Given the description of an element on the screen output the (x, y) to click on. 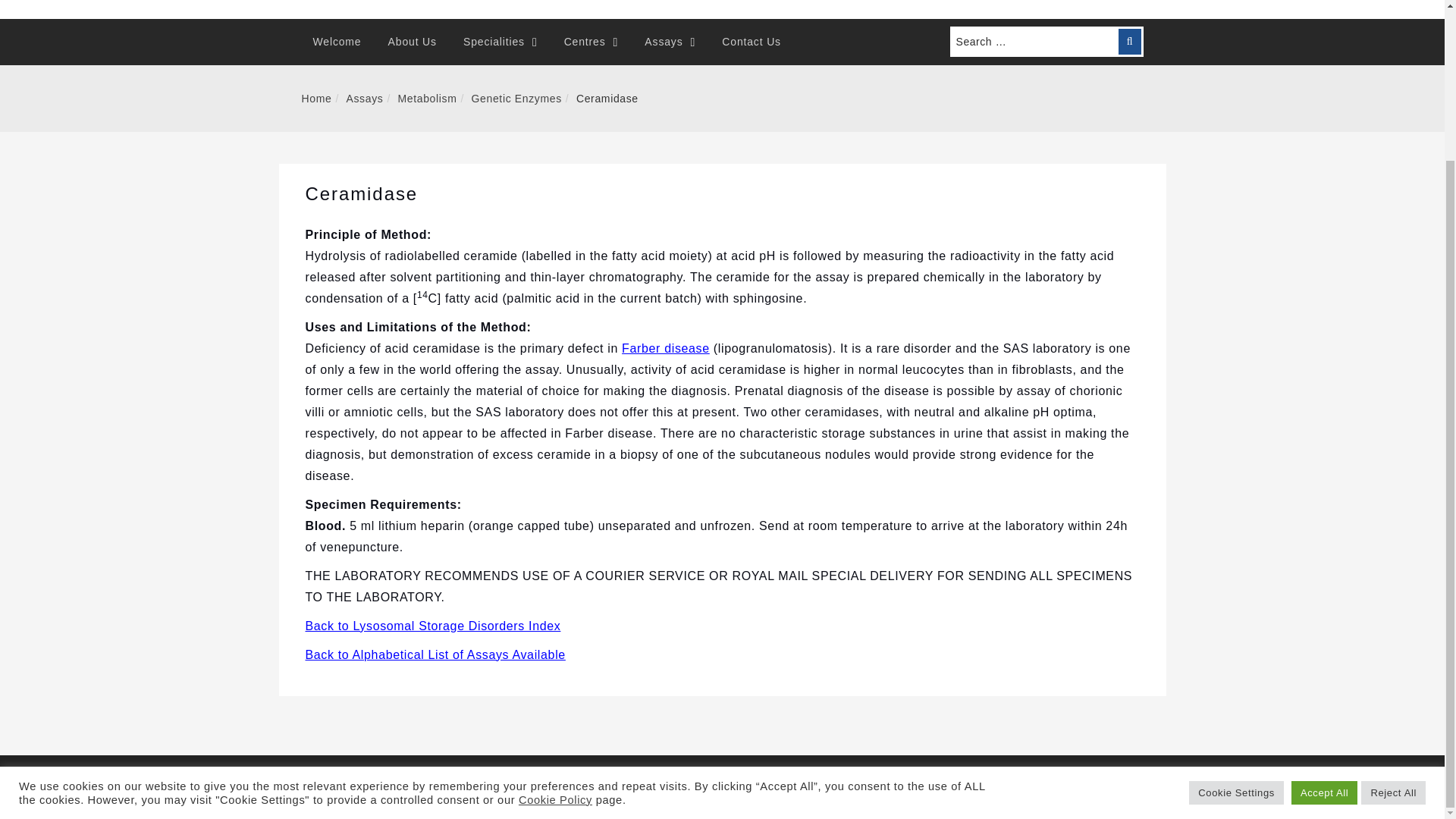
Assays (364, 97)
Specialities (499, 41)
Assays (669, 41)
Home (316, 97)
Supra-Regional Assay Service (379, 787)
Welcome (336, 41)
Contact Us (751, 41)
About Us (412, 41)
Centres (591, 41)
Metabolism (427, 97)
Sitemap (606, 787)
